Given the description of an element on the screen output the (x, y) to click on. 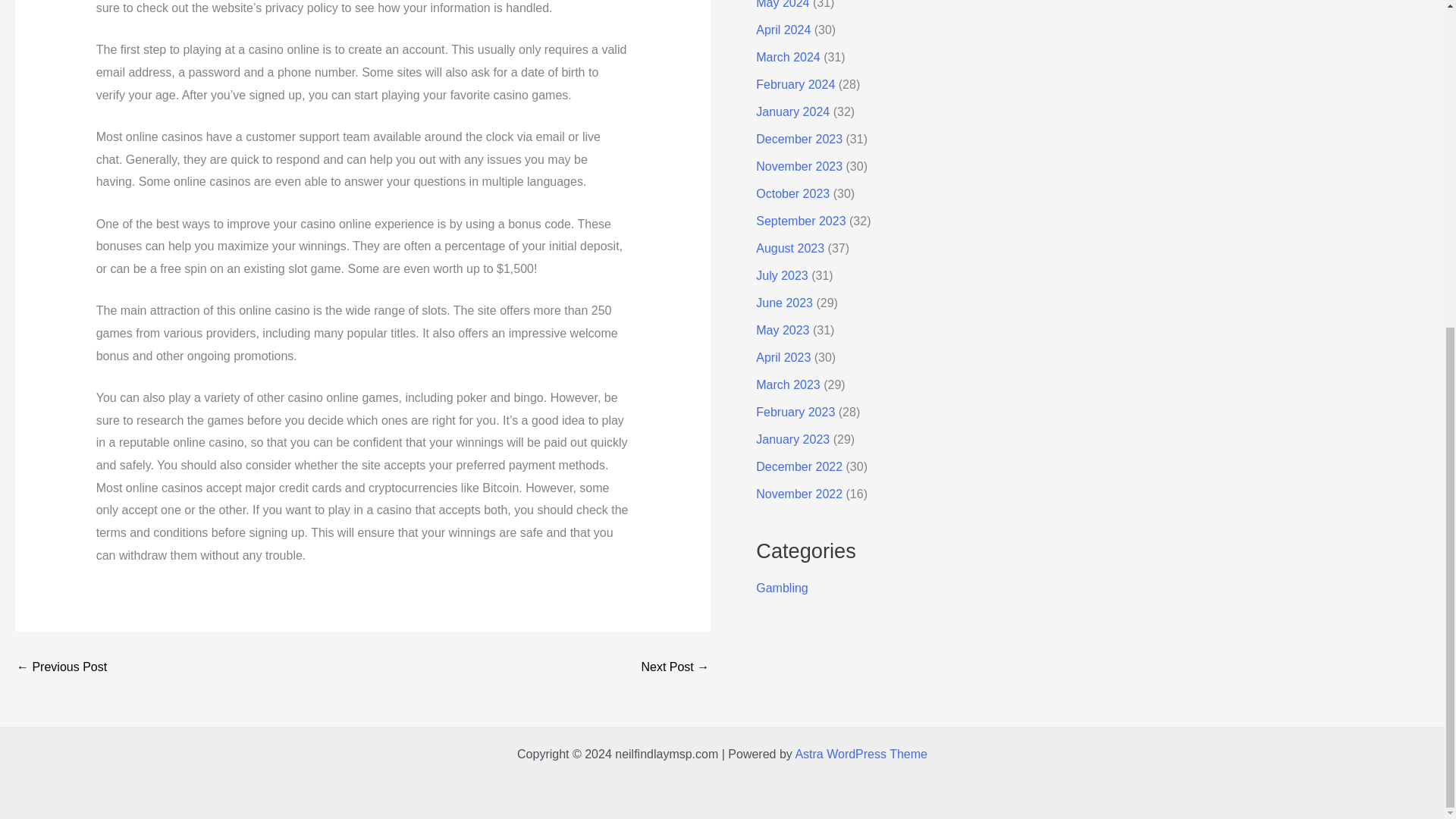
August 2023 (789, 247)
May 2023 (782, 329)
January 2024 (792, 111)
February 2023 (794, 411)
November 2023 (799, 165)
March 2023 (788, 384)
January 2023 (792, 439)
December 2023 (799, 138)
April 2023 (782, 357)
March 2024 (788, 56)
April 2024 (782, 29)
November 2022 (799, 493)
December 2022 (799, 466)
October 2023 (792, 193)
Astra WordPress Theme (860, 753)
